Given the description of an element on the screen output the (x, y) to click on. 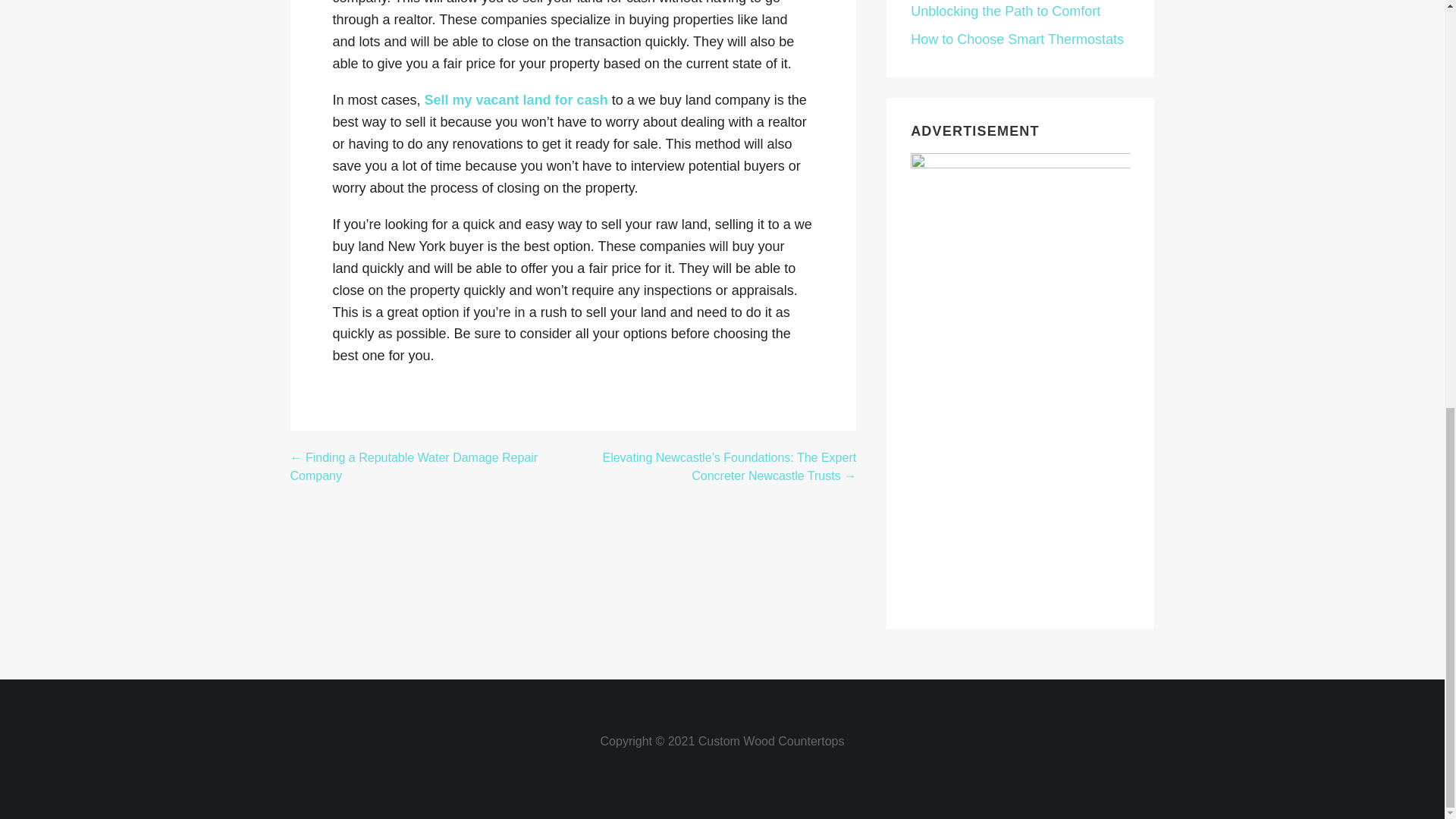
How to Choose Smart Thermostats (1017, 38)
Sell my vacant land for cash (516, 99)
